Given the description of an element on the screen output the (x, y) to click on. 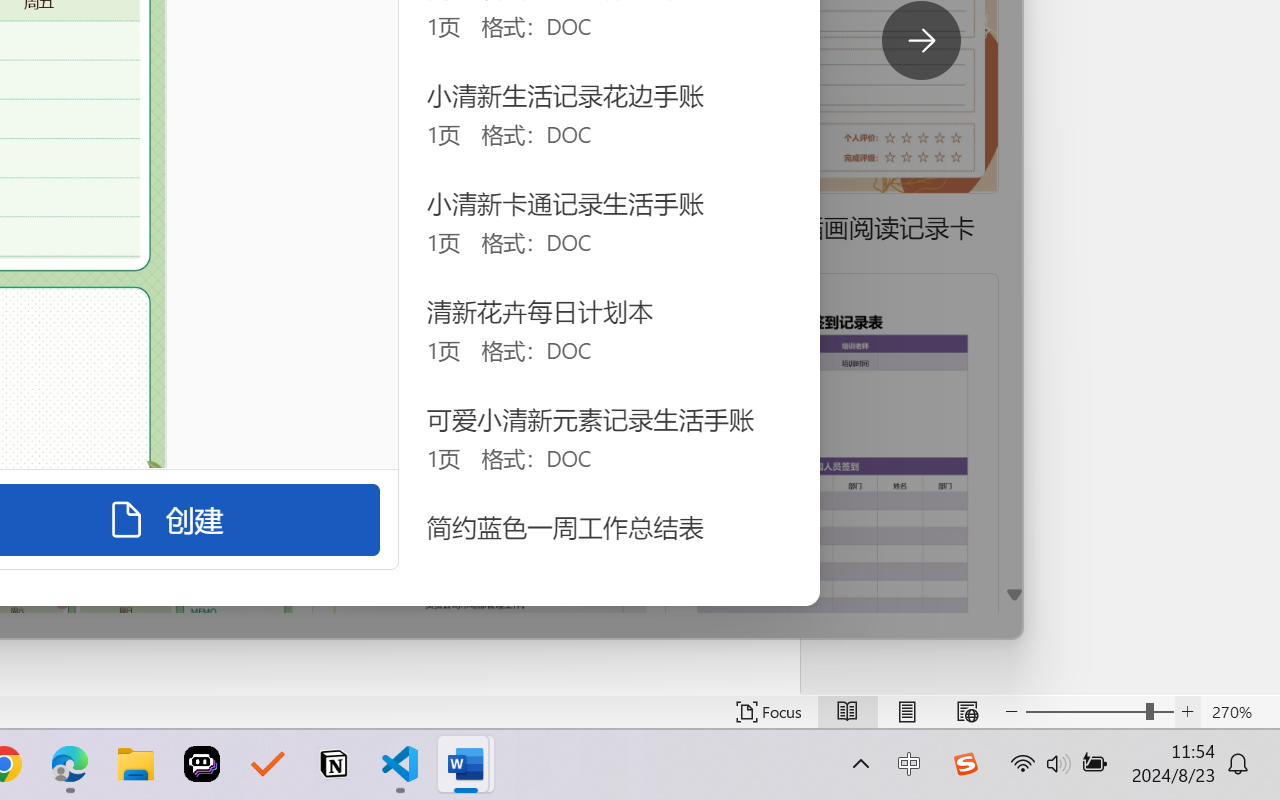
Decrease Text Size (1011, 712)
Increase Text Size (1187, 712)
Text Size (1100, 712)
